Given the description of an element on the screen output the (x, y) to click on. 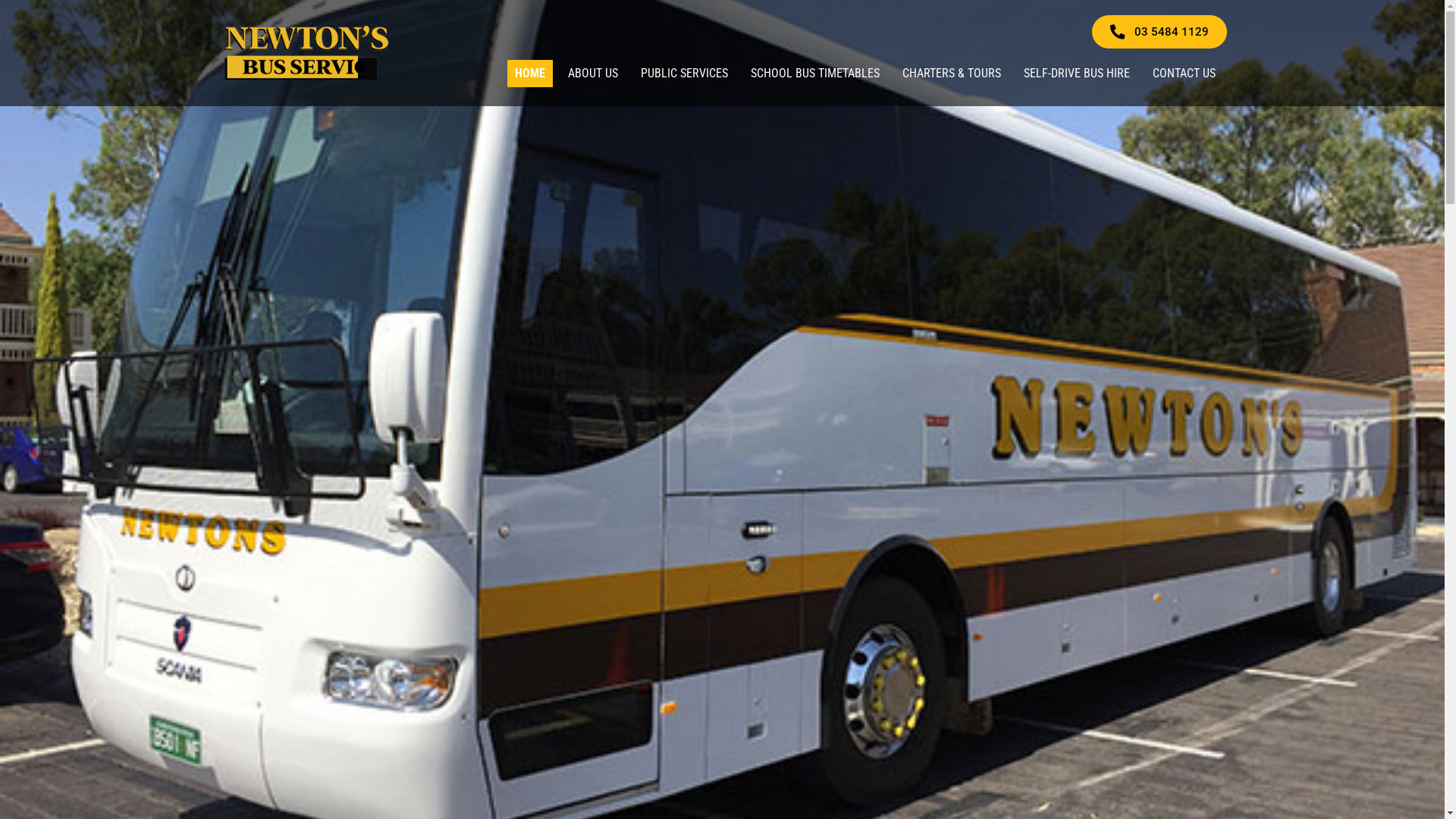
SCHOOL BUS TIMETABLES Element type: text (815, 73)
03 5484 1129 Element type: text (1159, 31)
HOME Element type: text (529, 73)
ABOUT US Element type: text (591, 73)
PUBLIC SERVICES Element type: text (683, 73)
SELF-DRIVE BUS HIRE Element type: text (1076, 73)
CHARTERS & TOURS Element type: text (951, 73)
newton-transparent-opt Element type: hover (306, 52)
CONTACT US Element type: text (1184, 73)
